Given the description of an element on the screen output the (x, y) to click on. 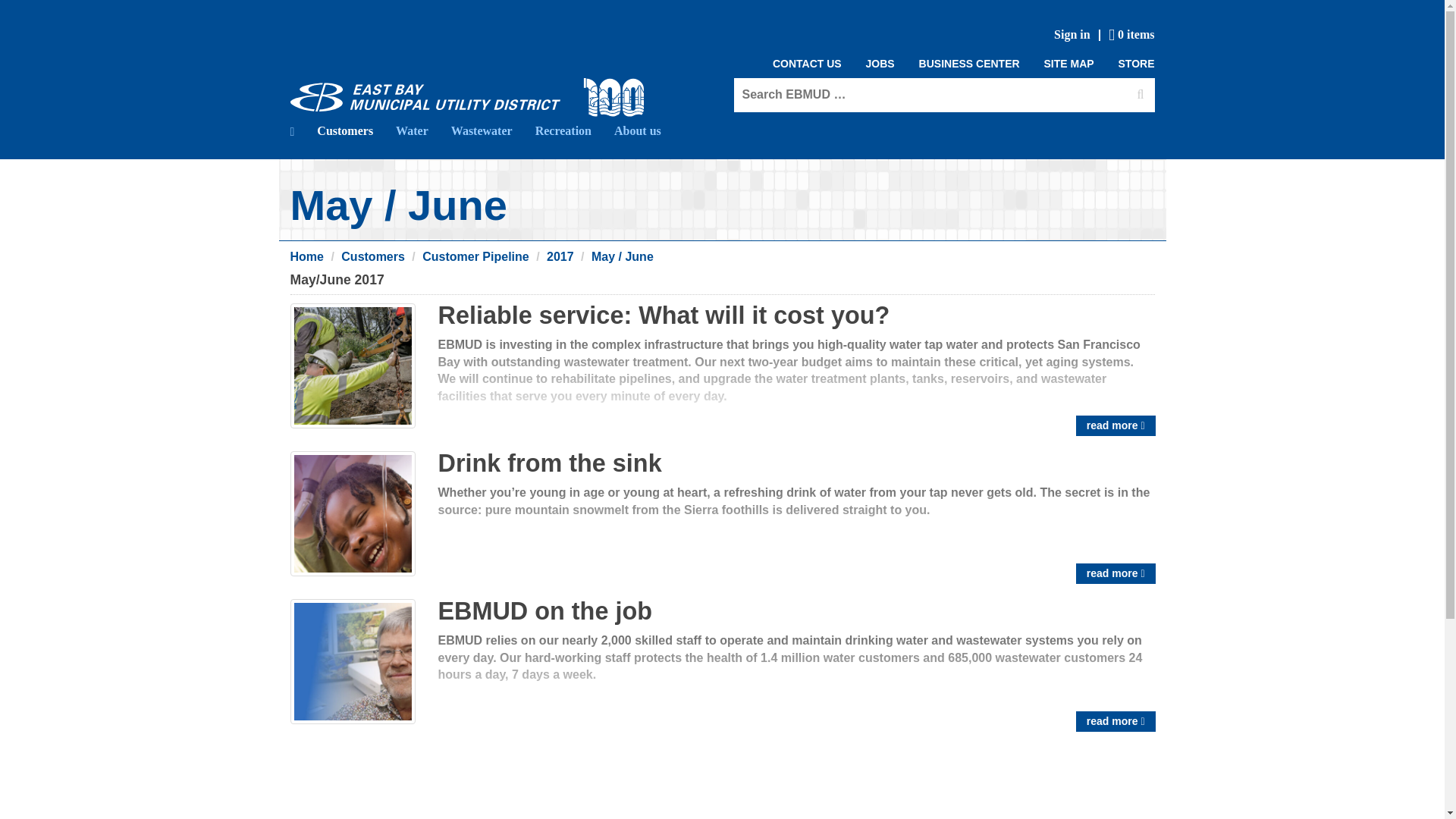
Water (411, 130)
read more (1115, 425)
Customers (372, 256)
JOBS (880, 63)
Sign in (1071, 34)
Reliable service: What will it cost you? (663, 315)
CONTACT US (806, 63)
2017 (560, 256)
Recreation (563, 130)
read more (1115, 721)
